Given the description of an element on the screen output the (x, y) to click on. 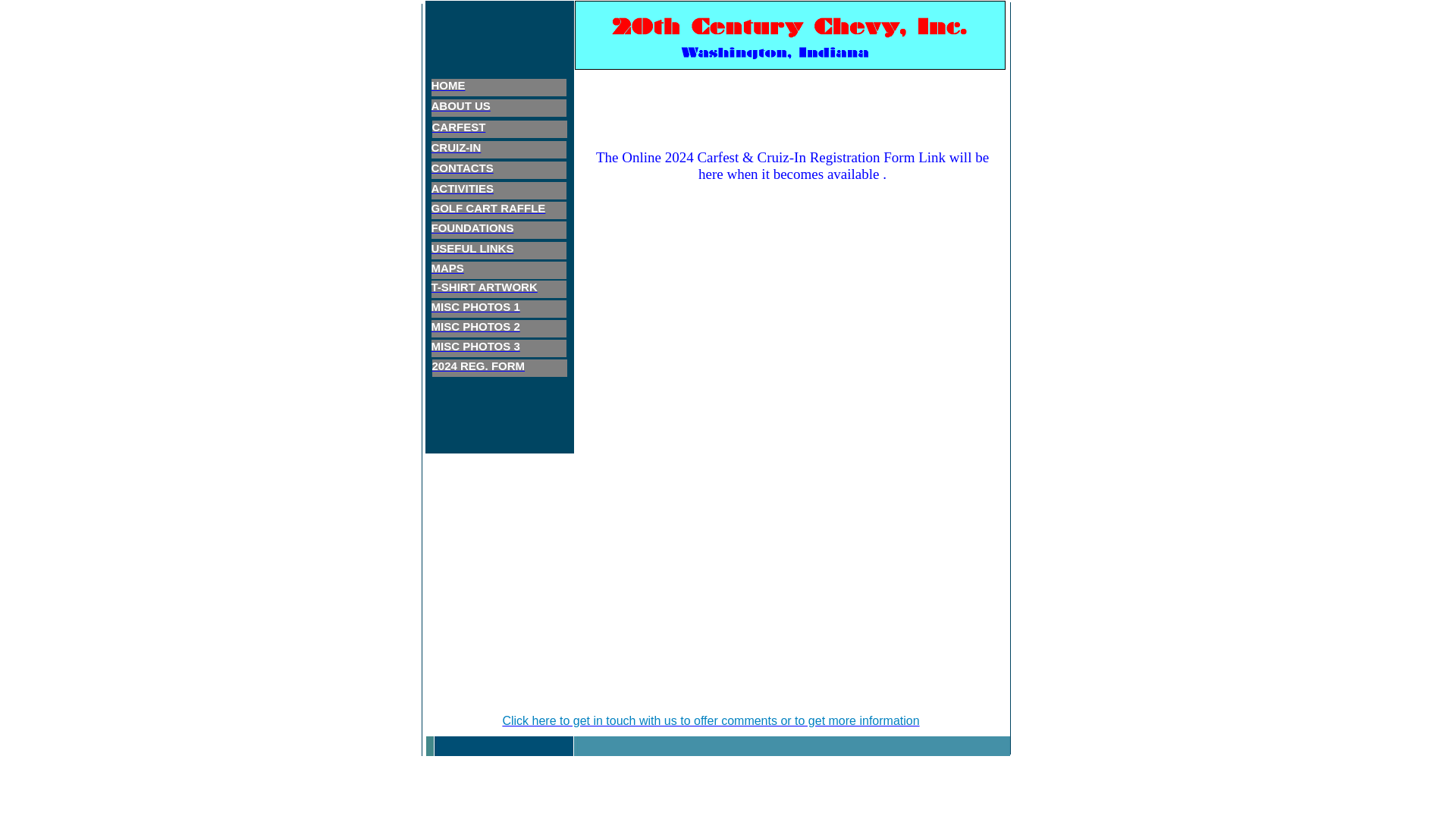
USEFUL LINKS Element type: text (471, 249)
CONTACTS Element type: text (461, 168)
HOME Element type: text (447, 86)
MISC PHOTOS 1 Element type: text (474, 307)
CRUIZ-IN Element type: text (455, 148)
ACTIVITIES Element type: text (461, 189)
MISC PHOTOS 3 Element type: text (474, 346)
2024 REG. FORM Element type: text (478, 366)
CARFEST Element type: text (459, 127)
ABOUT US Element type: text (459, 106)
GOLF CART RAFFLE Element type: text (487, 208)
FOUNDATIONS Element type: text (471, 228)
T-SHIRT ARTWORK Element type: text (483, 287)
MAPS Element type: text (446, 268)
MISC PHOTOS 2 Element type: text (474, 327)
